Given the description of an element on the screen output the (x, y) to click on. 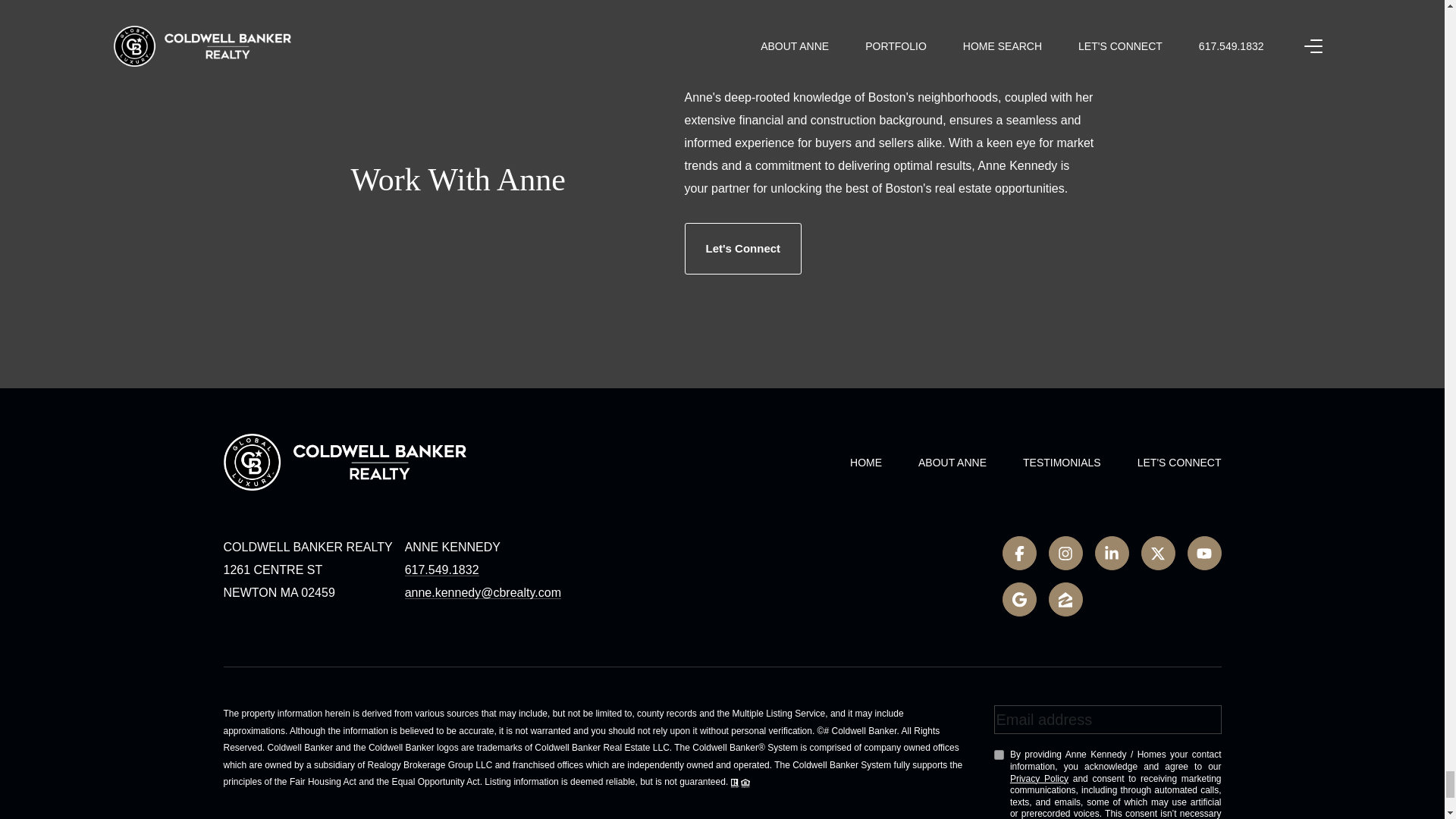
on (997, 755)
